Given the description of an element on the screen output the (x, y) to click on. 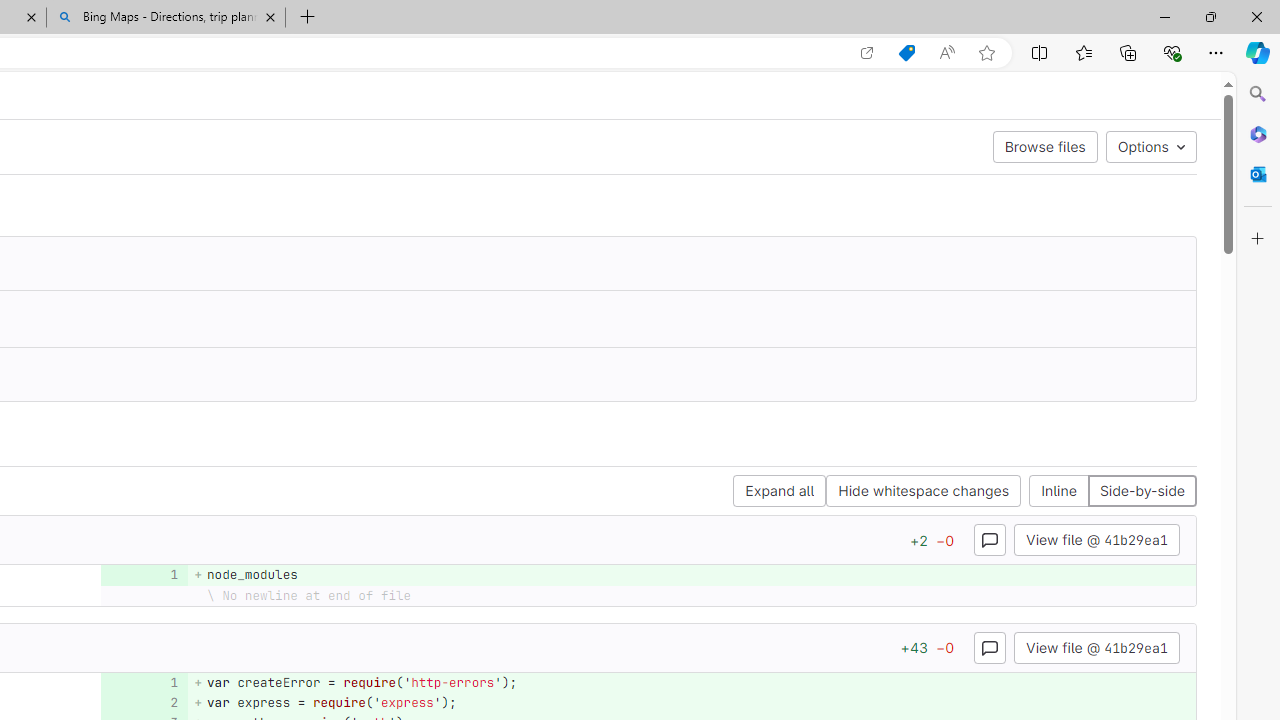
View file @ 41b29ea1 (1096, 646)
Add a comment to this line (138, 701)
